Given the description of an element on the screen output the (x, y) to click on. 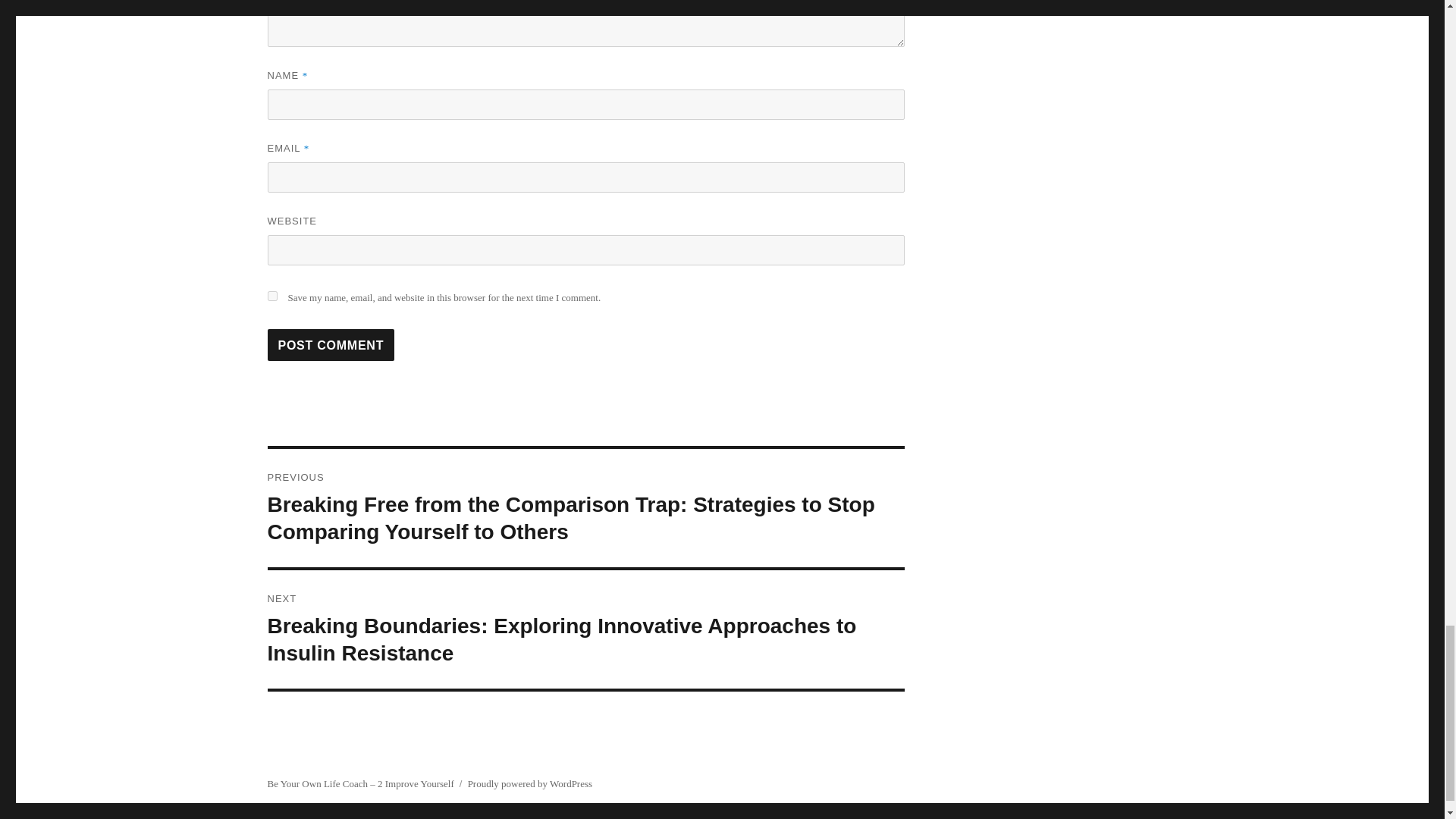
yes (271, 296)
Post Comment (330, 345)
Post Comment (330, 345)
